Given the description of an element on the screen output the (x, y) to click on. 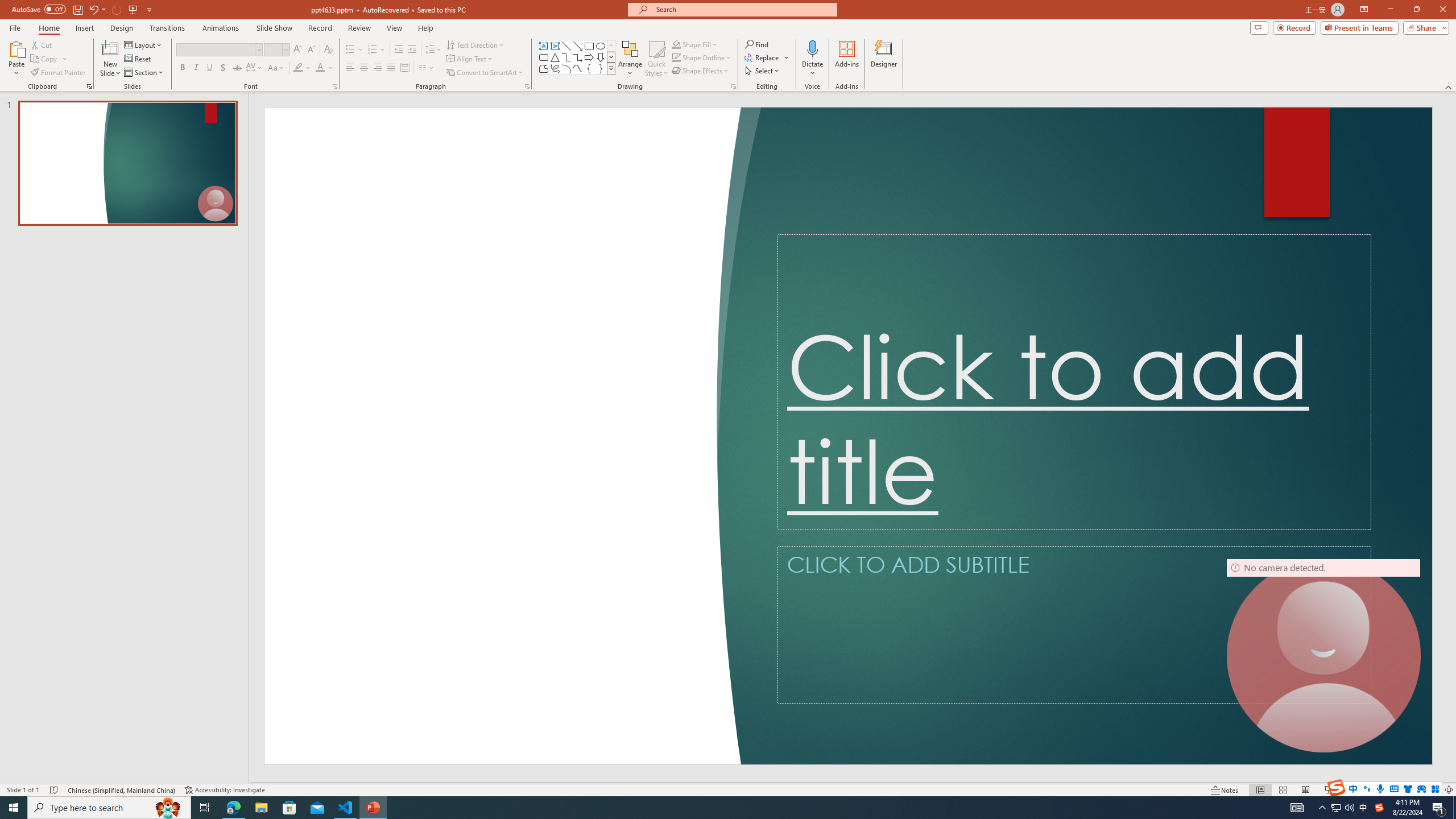
Shapes (611, 68)
Align Left (349, 67)
Layout (143, 44)
Bold (182, 67)
Distributed (404, 67)
Isosceles Triangle (554, 57)
